Given the description of an element on the screen output the (x, y) to click on. 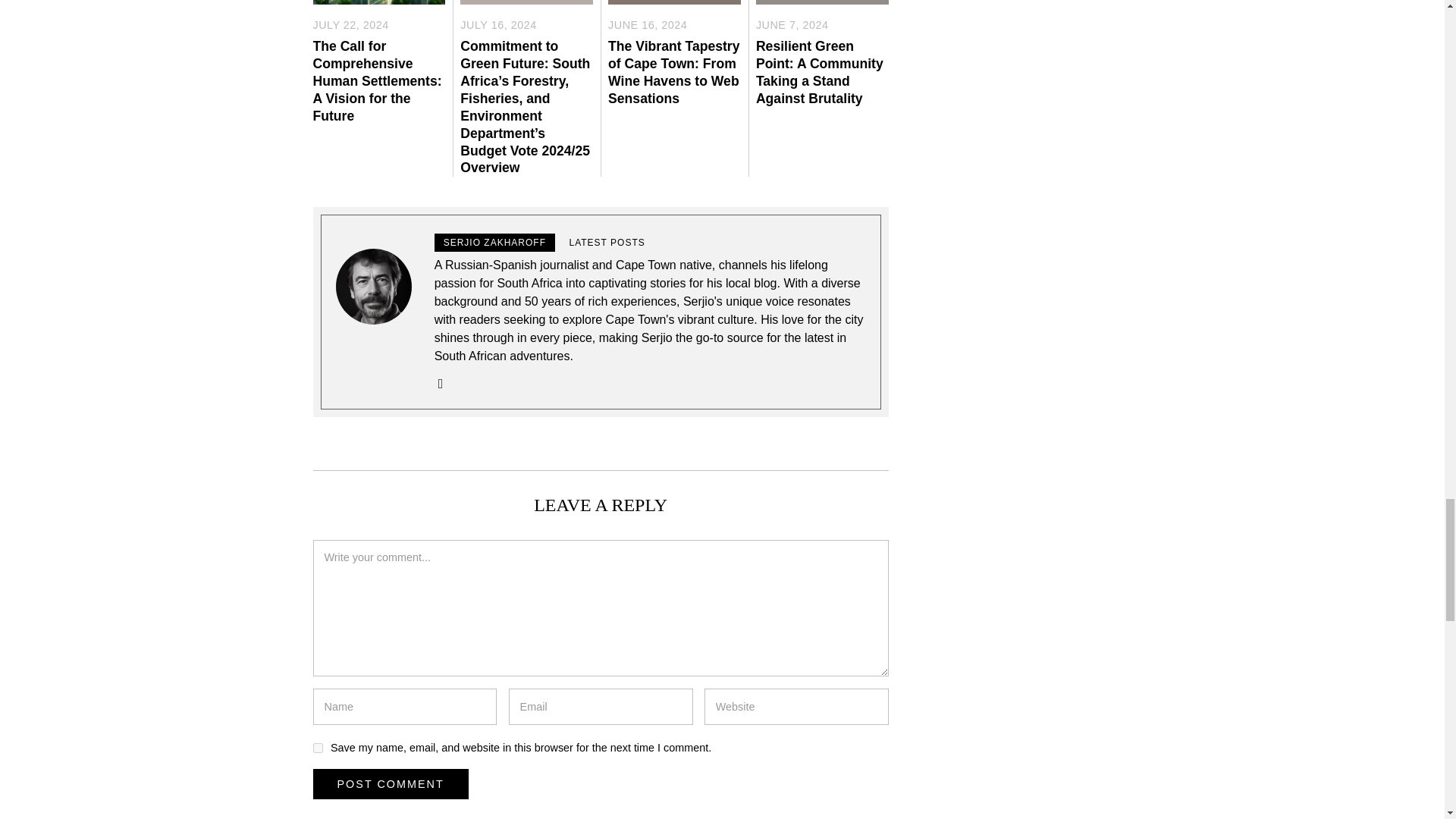
Post Comment (390, 784)
yes (317, 747)
